Given the description of an element on the screen output the (x, y) to click on. 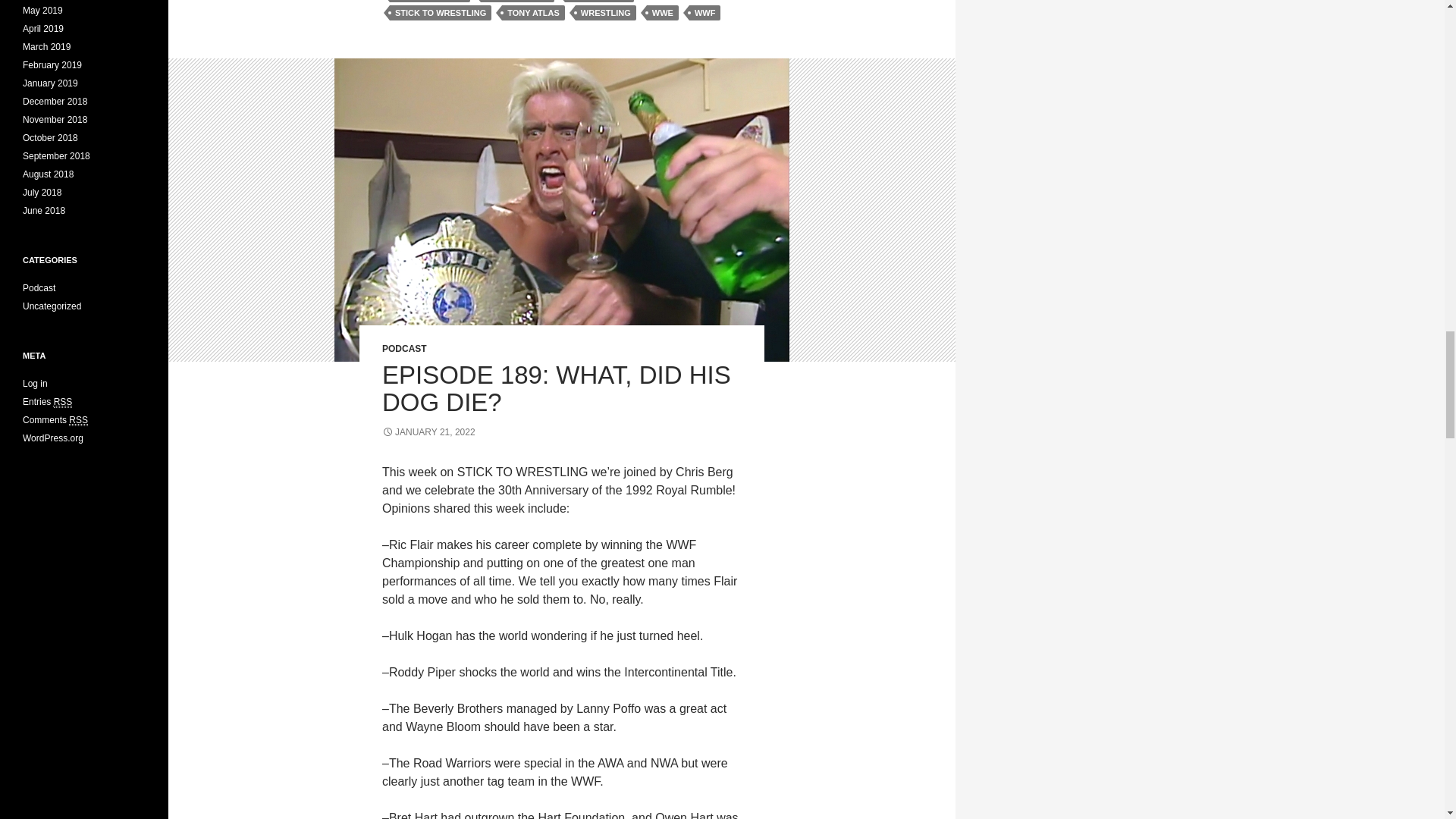
WWF (704, 12)
RON LEMIEUX (598, 1)
WRESTLING (605, 12)
PODCAST (403, 348)
JOHN MCADAM (517, 1)
JANUARY 21, 2022 (428, 431)
EPISODE 189: WHAT, DID HIS DOG DIE? (555, 388)
STICK TO WRESTLING (441, 12)
TONY ATLAS (533, 12)
JESSE VENTURA (430, 1)
WWE (662, 12)
